Given the description of an element on the screen output the (x, y) to click on. 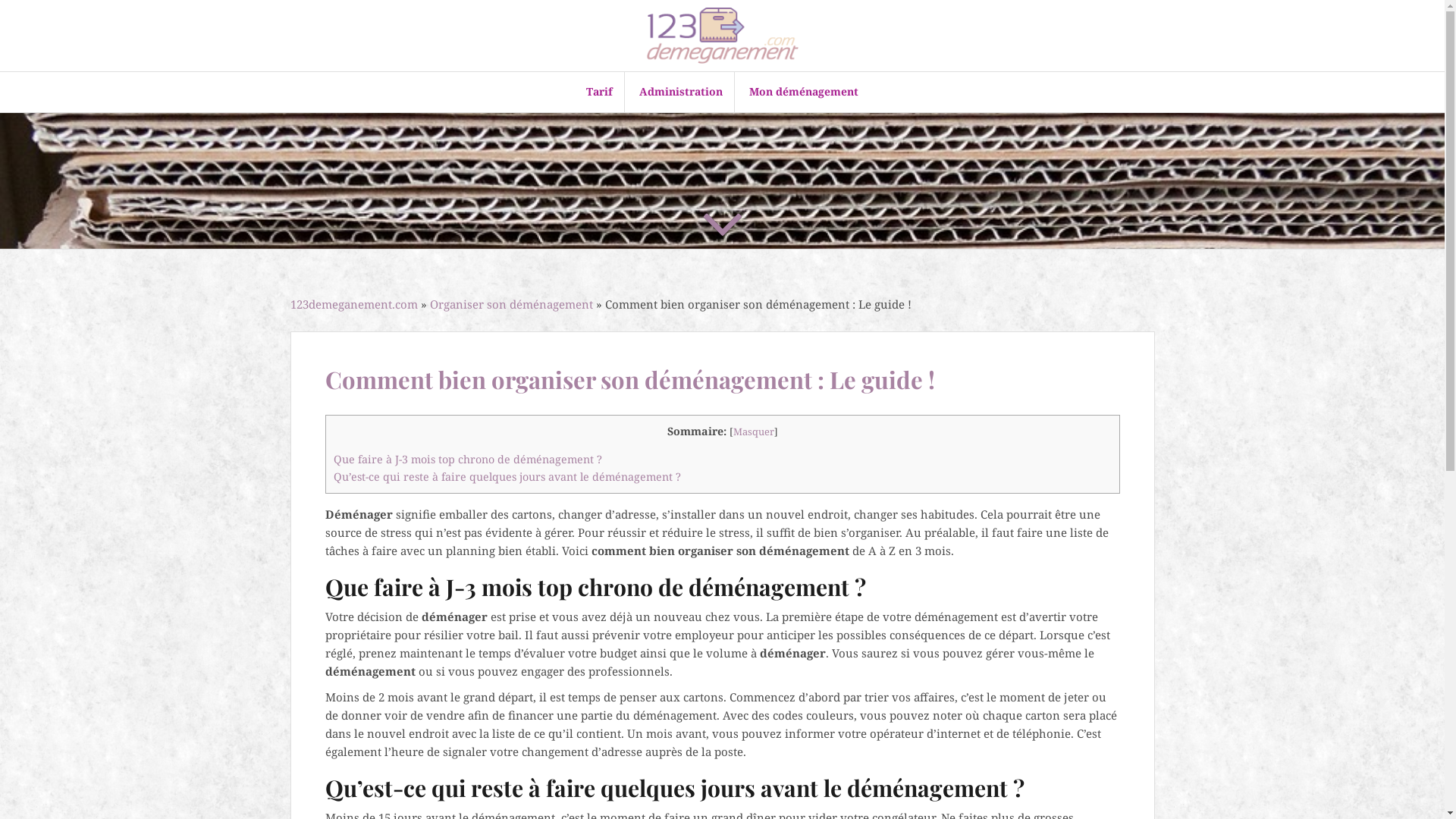
Masquer Element type: text (752, 431)
123demeganement.com Element type: text (353, 303)
Aller au contenu Element type: text (0, 0)
Tarif Element type: text (599, 91)
Administration Element type: text (680, 91)
